Given the description of an element on the screen output the (x, y) to click on. 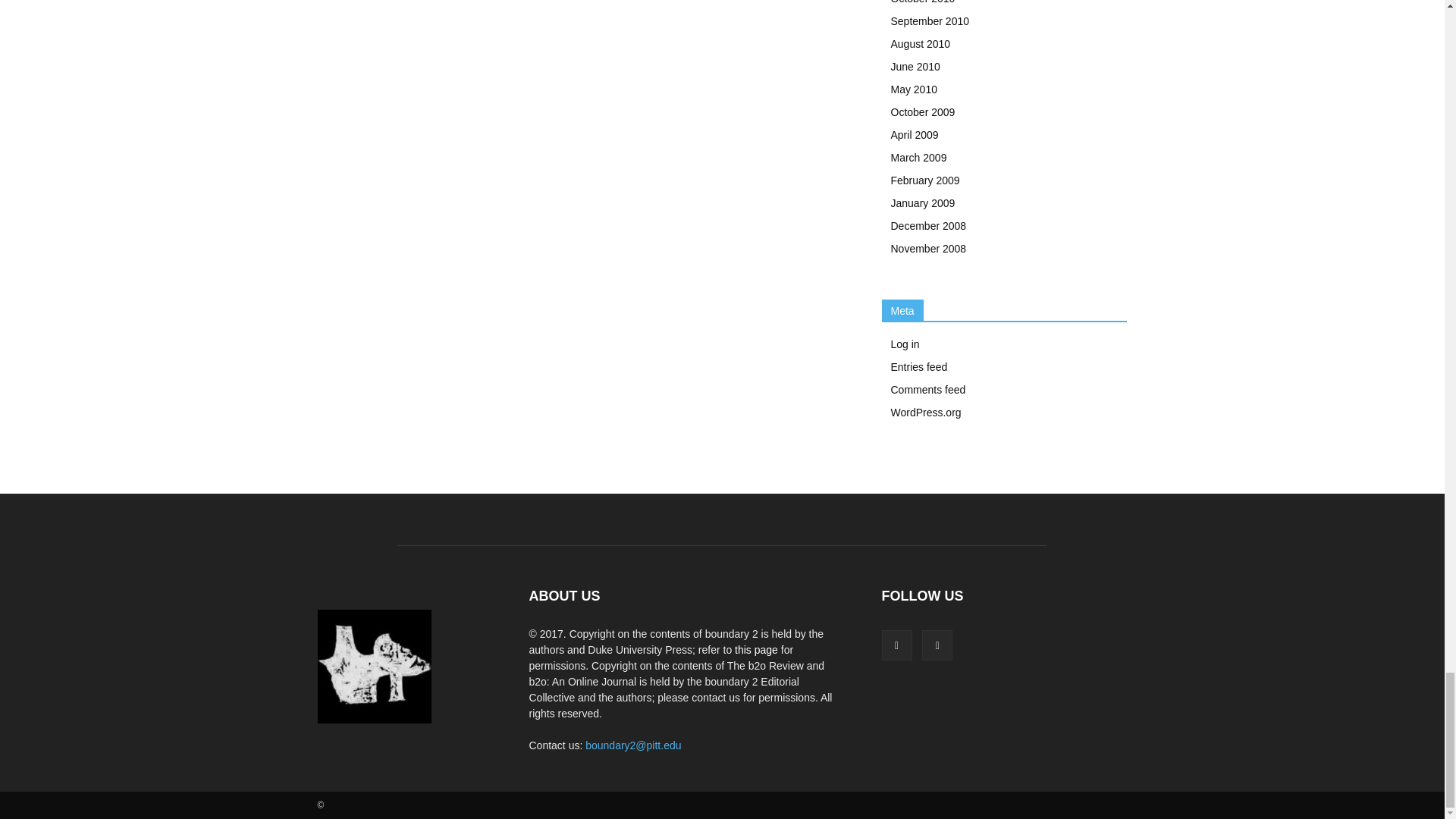
Twitter (936, 644)
Facebook (895, 644)
